Given the description of an element on the screen output the (x, y) to click on. 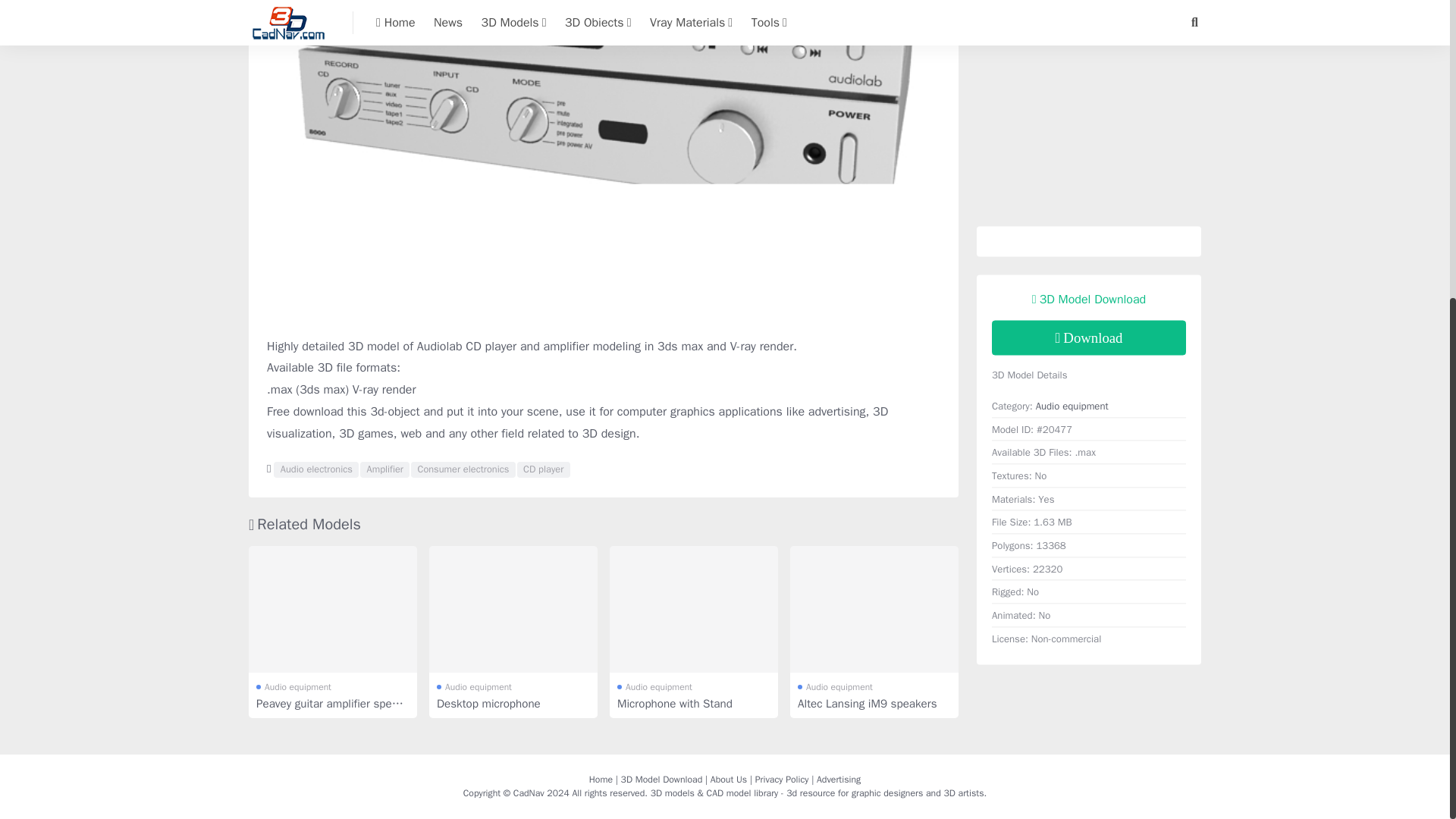
download Audiolab CD player and amplifier 3d model (1088, 338)
Microphone with Stand 3d model download (693, 609)
Consumer electronics 3d model (462, 469)
Amplifier 3d model (384, 469)
Peavey guitar amplifier speaker 3d model download (332, 609)
Audio electronics 3d model (315, 469)
CD player 3d model (543, 469)
Desktop microphone 3d model download (512, 609)
Altec Lansing iM9 speakers 3d model download (874, 609)
